Given the description of an element on the screen output the (x, y) to click on. 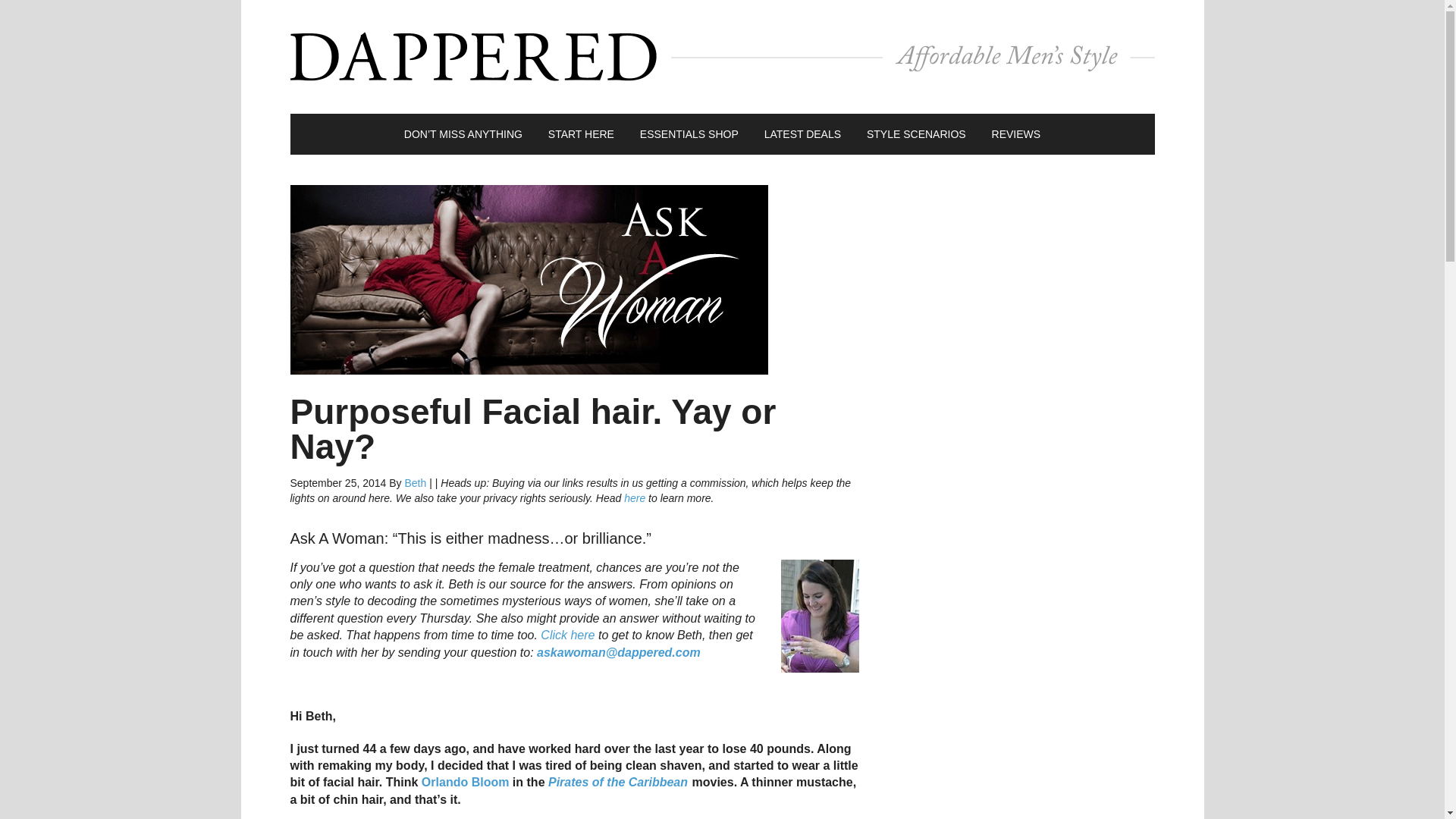
LATEST DEALS (801, 133)
STYLE SCENARIOS (916, 133)
Pirates of the Caribbean (617, 781)
Orlando Bloom (465, 781)
ESSENTIALS SHOP (688, 133)
Dappered (721, 56)
REVIEWS (1015, 133)
Click here (567, 634)
here (634, 498)
START HERE (581, 133)
